Given the description of an element on the screen output the (x, y) to click on. 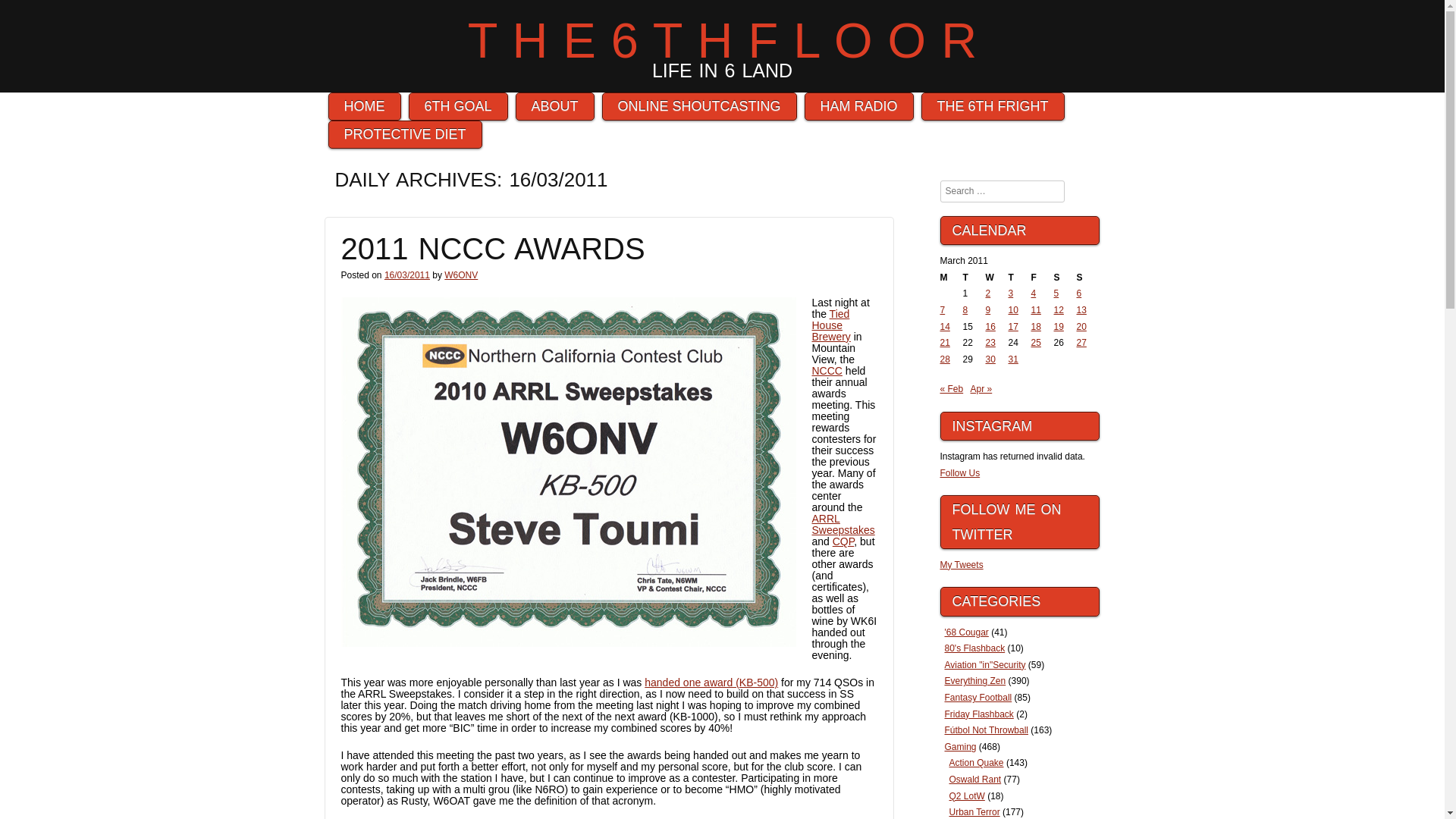
HAM RADIO (859, 106)
Thursday (1019, 278)
Saturday (1065, 278)
View all posts by W6ONV (460, 275)
Monday (951, 278)
T H E  6 T H  F L O O R (721, 40)
Tuesday (973, 278)
08:08 (406, 275)
Friday (1042, 278)
ABOUT (554, 106)
